Given the description of an element on the screen output the (x, y) to click on. 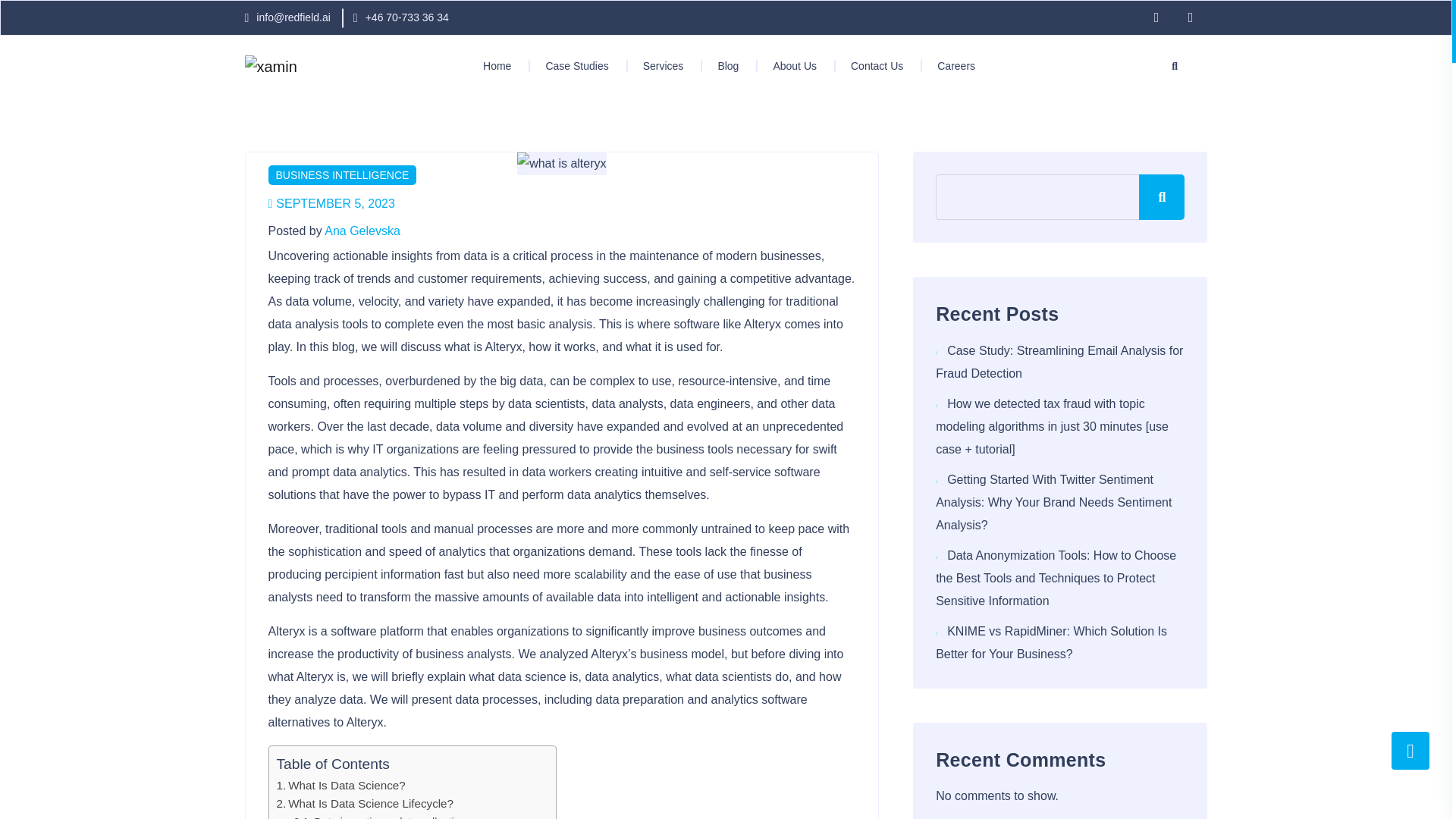
About Us (788, 65)
What Is Data Science? (340, 784)
Blog (722, 65)
Careers (950, 65)
Contact Us (871, 65)
What Is Data Science Lifecycle? (364, 802)
Home (497, 65)
Services (657, 65)
Case Studies (571, 65)
